Given the description of an element on the screen output the (x, y) to click on. 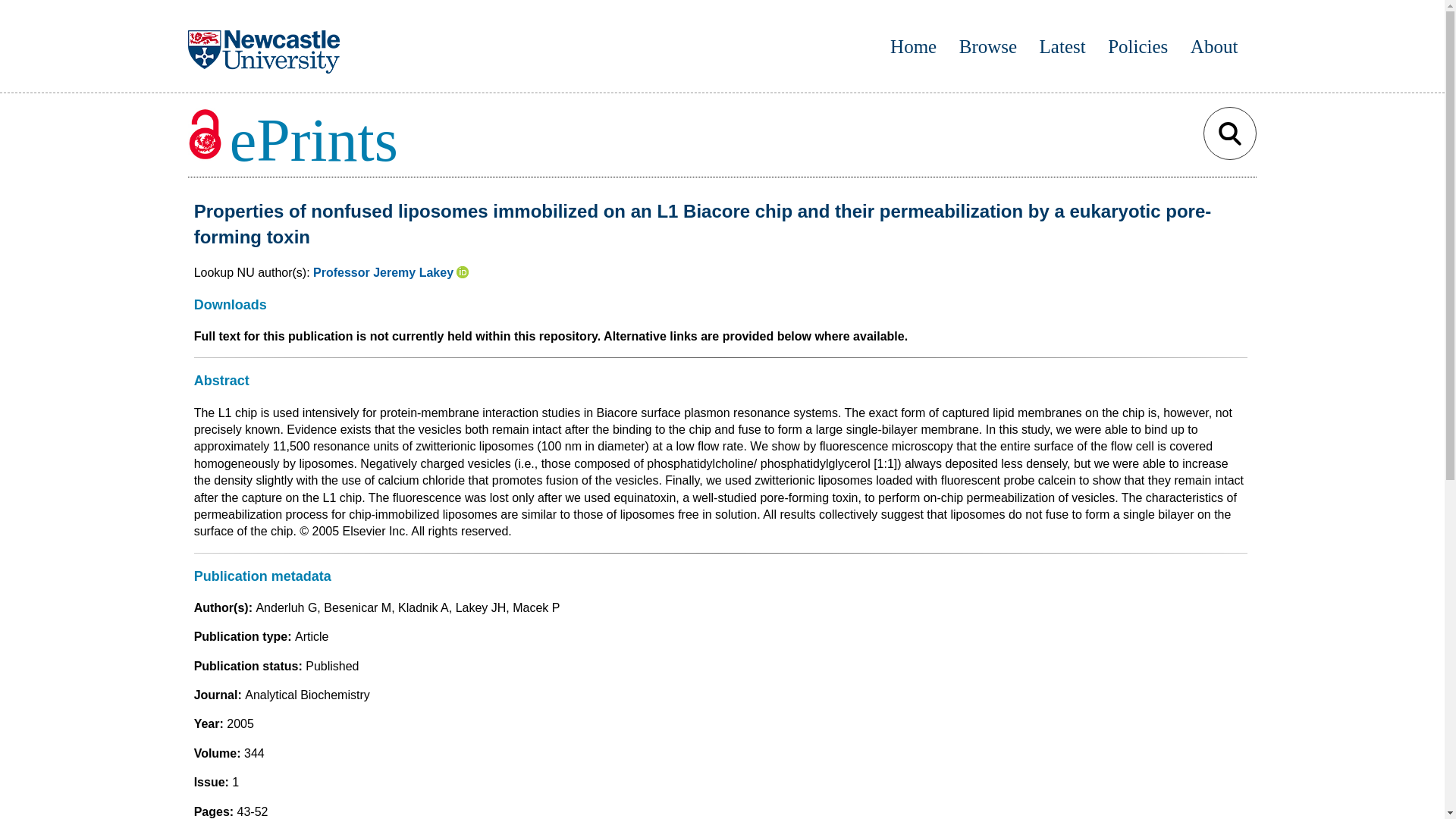
ePrints homepage (912, 46)
Professor Jeremy Lakey (382, 272)
submit (1230, 133)
About Open Access (1215, 46)
ORCID: 0000-0003-4646-9085 (463, 272)
Browse (987, 46)
Newcastle University eprints (292, 140)
submit (1230, 133)
submit (1230, 133)
View ePrints listed within the last month (1062, 46)
Latest (1062, 46)
About (1215, 46)
View usage policies (1137, 46)
Browse by author or year (987, 46)
Home (912, 46)
